Given the description of an element on the screen output the (x, y) to click on. 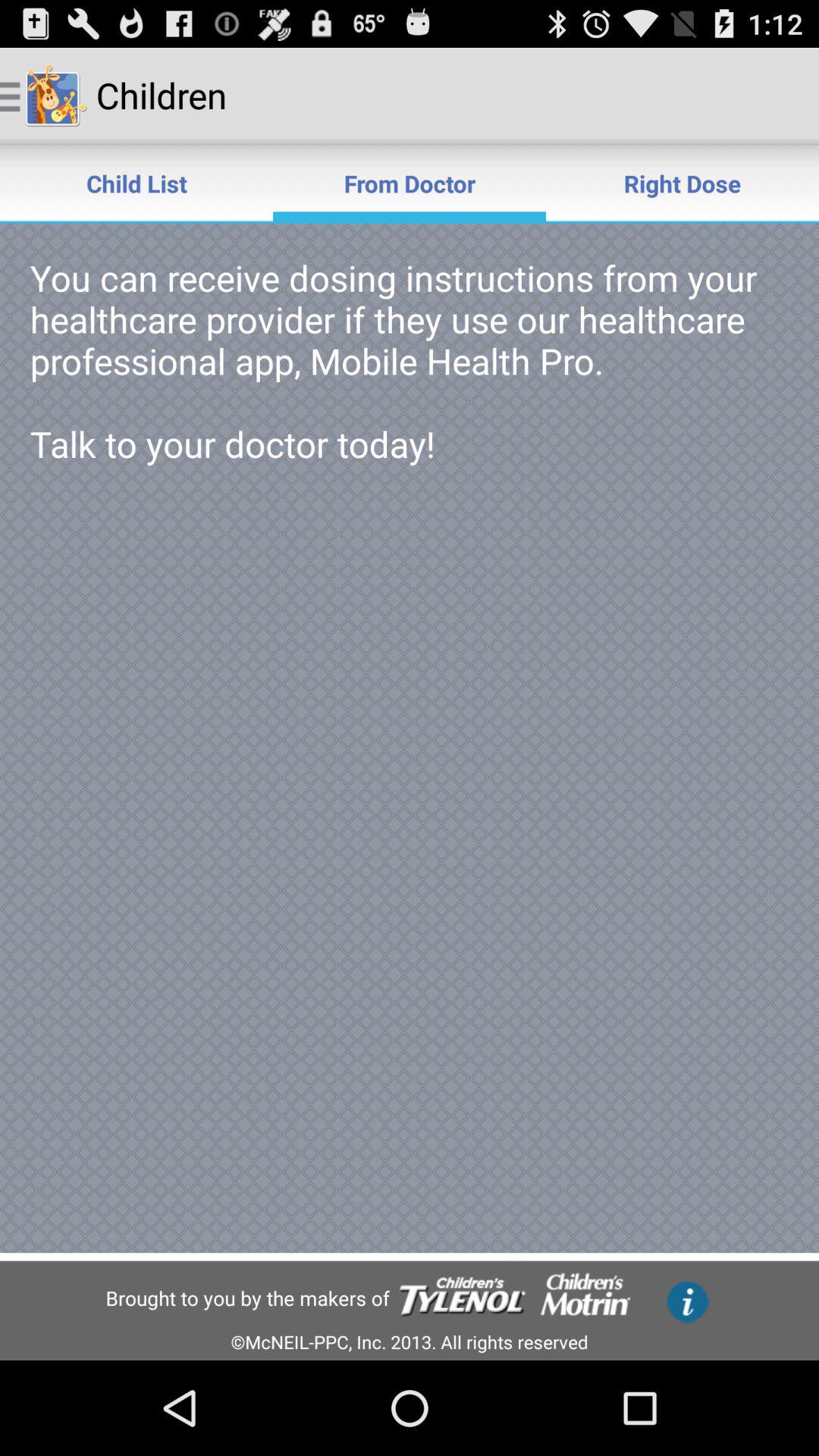
press the child list icon (136, 183)
